Given the description of an element on the screen output the (x, y) to click on. 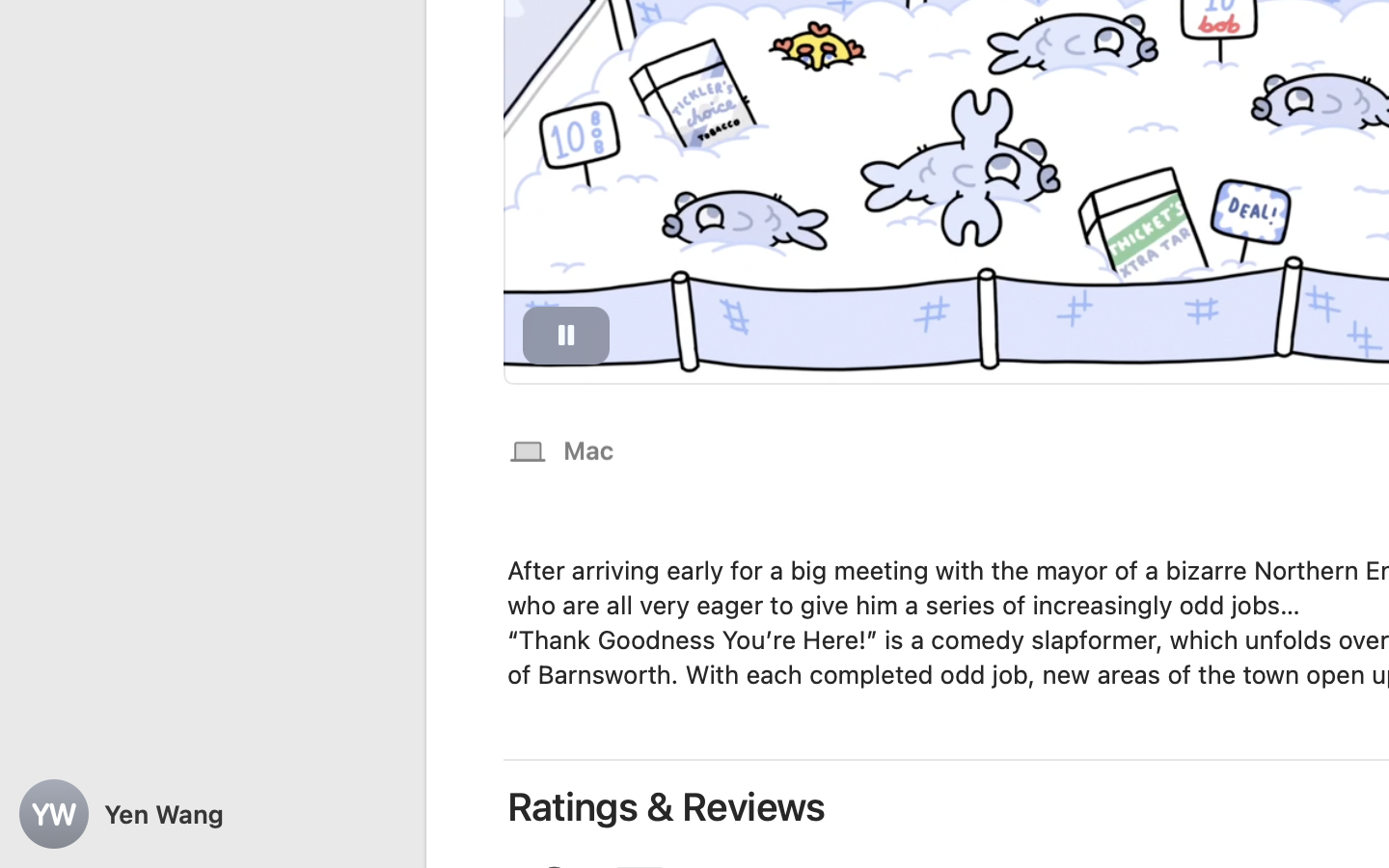
​￼￼Mac Element type: AXStaticText (561, 449)
Ratings & Reviews Element type: AXStaticText (667, 806)
Yen Wang Element type: AXButton (212, 813)
